Given the description of an element on the screen output the (x, y) to click on. 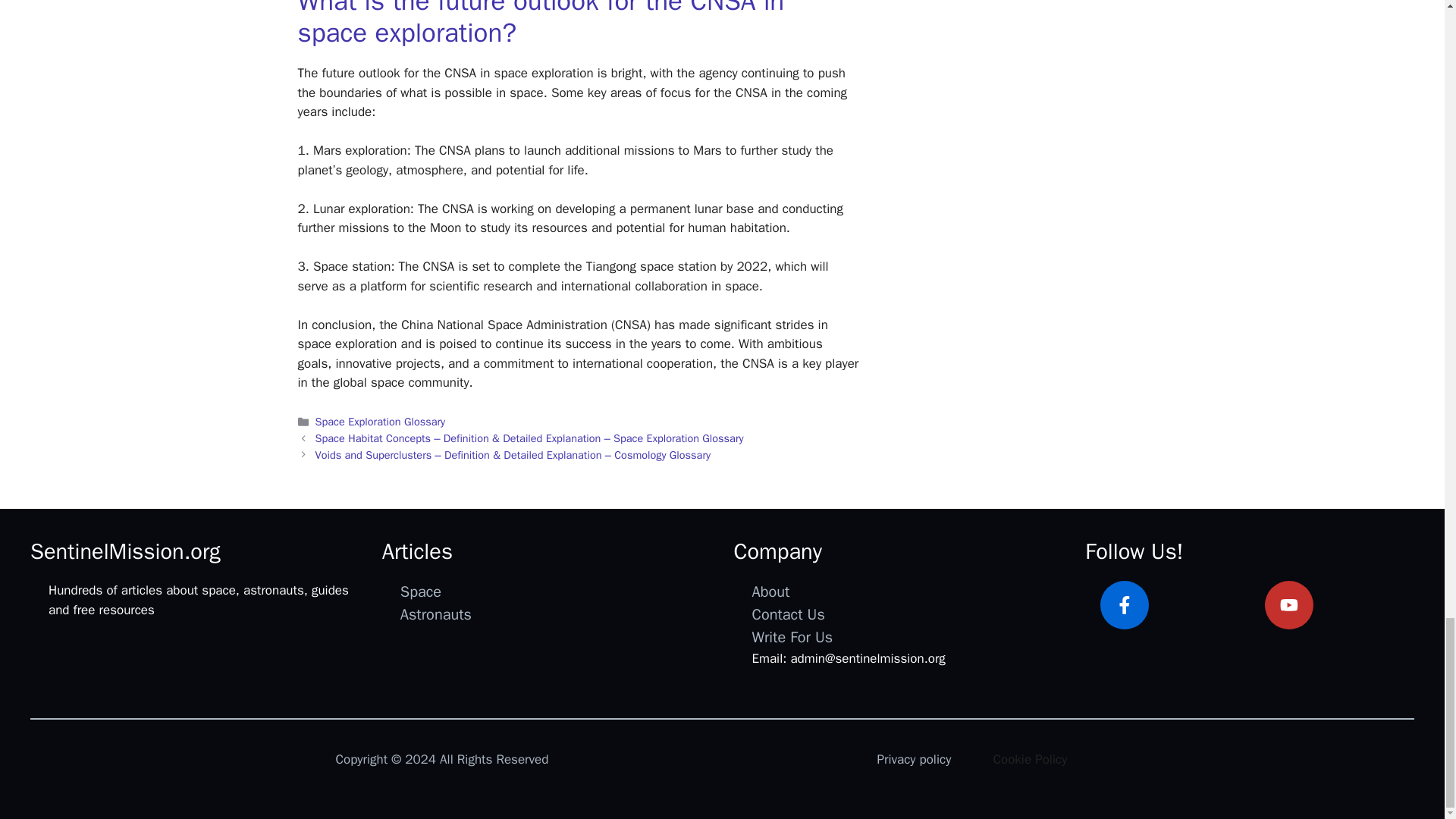
SentinelMission.org (125, 551)
Astronauts (435, 614)
Space (420, 591)
Space Exploration Glossary (380, 421)
